Given the description of an element on the screen output the (x, y) to click on. 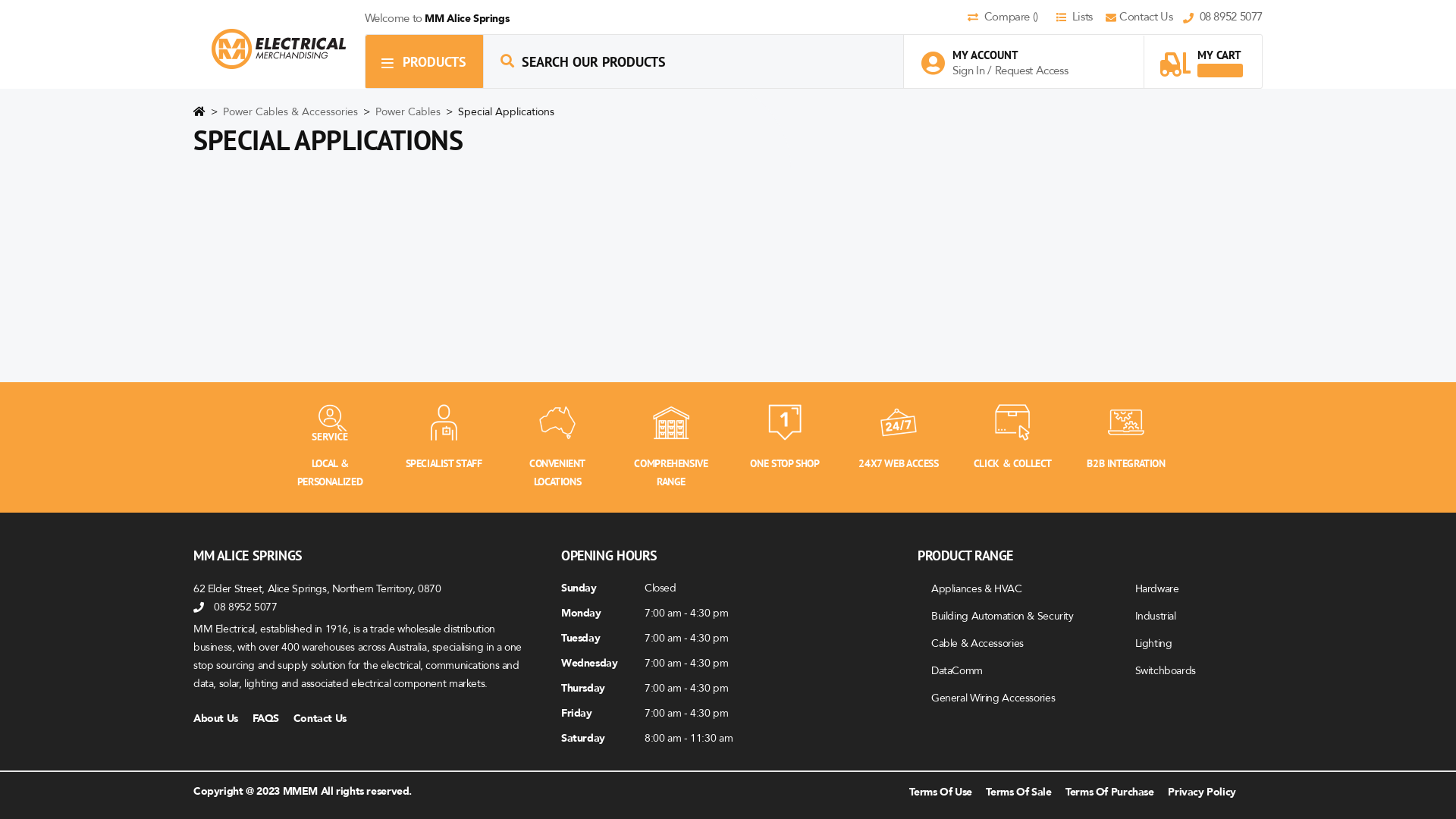
Power Cables Element type: text (409, 111)
Lists Element type: text (1078, 17)
Building Automation & Security Element type: text (1002, 615)
Industrial Element type: text (1154, 615)
MY ACCOUNT Element type: text (1001, 54)
Contact Us Element type: text (1144, 17)
MY CART Element type: text (1200, 55)
Hardware Element type: text (1156, 587)
Appliances & HVAC Element type: text (976, 587)
Convenient locations Element type: hover (557, 421)
FAQS Element type: text (271, 718)
Terms Of Purchase Element type: text (1109, 791)
Request Access Element type: text (1031, 70)
One stop shop Element type: hover (784, 421)
Terms Of Sale Element type: text (1018, 791)
Lighting Element type: text (1152, 642)
Compare Element type: text (1009, 17)
General Wiring Accessories Element type: text (992, 697)
Search Element type: text (507, 60)
Specialist staff Element type: hover (443, 421)
Comprehensive range Element type: hover (670, 421)
B2B integration Element type: hover (1125, 421)
24x7 Web Access Element type: hover (898, 421)
Contact Us Element type: text (325, 718)
Switchboards Element type: text (1164, 669)
Home Element type: text (199, 114)
Sign In Element type: text (969, 70)
Click & Collect Element type: hover (1012, 421)
62 Elder Street, Alice Springs, Northern Territory, 0870 Element type: text (317, 587)
Cable & Accessories Element type: text (977, 642)
08 8952 5077 Element type: text (1222, 17)
Privacy Policy Element type: text (1201, 791)
08 8952 5077 Element type: text (244, 606)
DataComm Element type: text (956, 669)
Terms Of Use Element type: text (940, 791)
Local & Personalized Element type: hover (329, 421)
MM Electrical Element type: hover (278, 48)
Power Cables & Accessories Element type: text (291, 111)
MM Electrical Element type: hover (278, 48)
About Us Element type: text (221, 718)
